Given the description of an element on the screen output the (x, y) to click on. 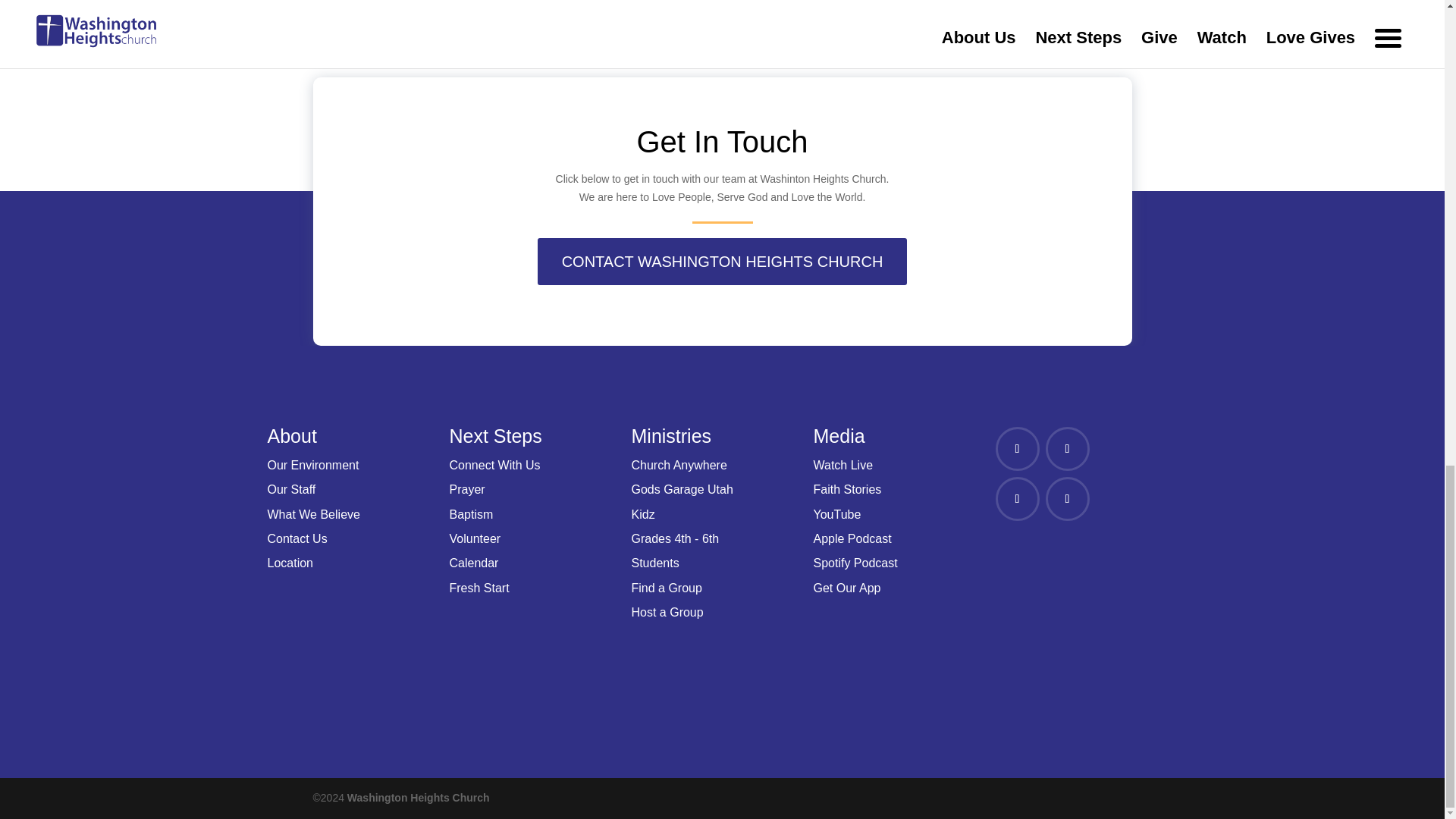
Follow on Facebook (1016, 448)
Follow on Youtube (1067, 498)
Follow on Instagram (1016, 498)
Follow on X (1067, 448)
